Given the description of an element on the screen output the (x, y) to click on. 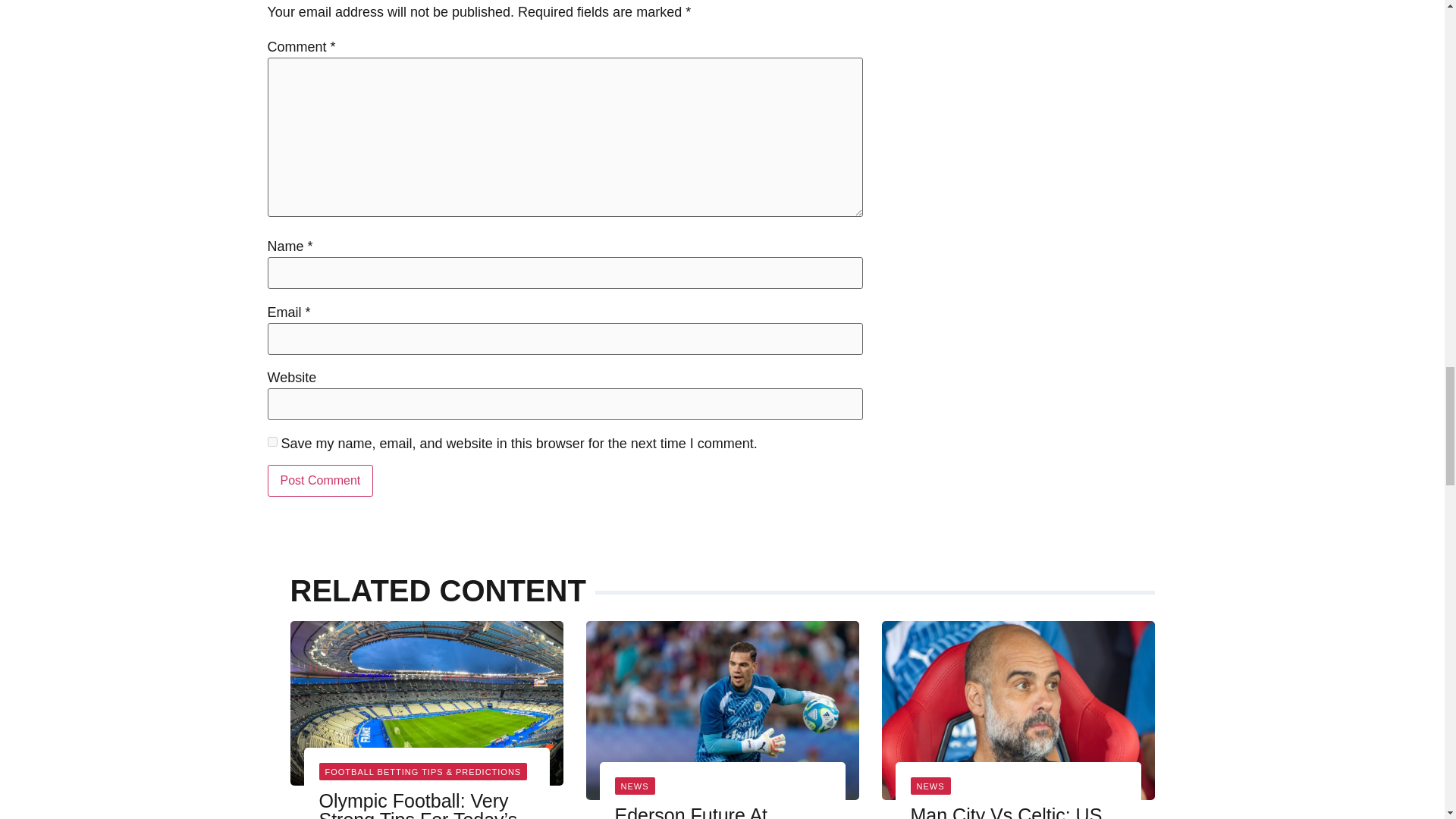
yes (271, 441)
Post Comment (319, 480)
